Given the description of an element on the screen output the (x, y) to click on. 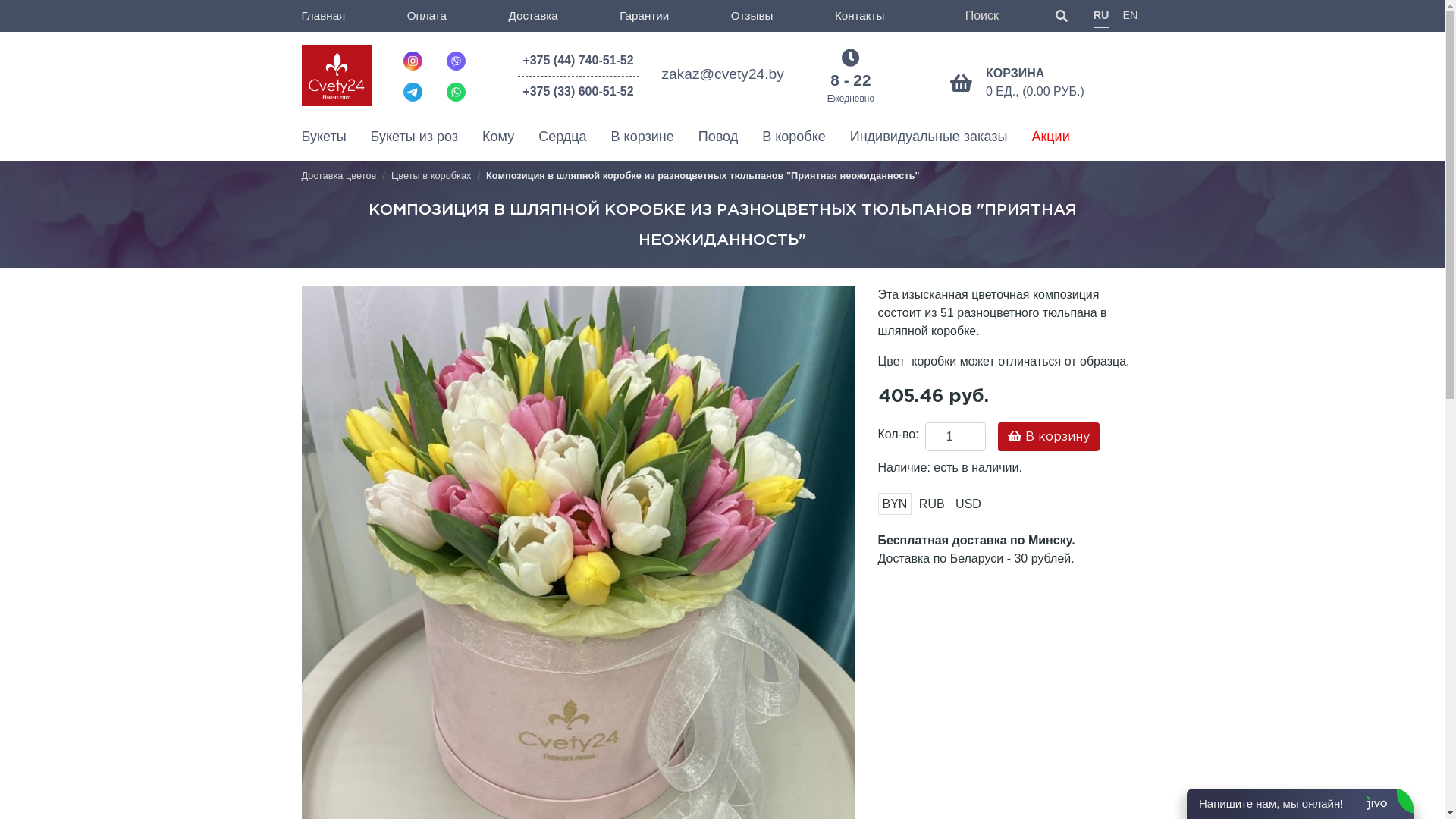
RUB Element type: text (931, 503)
RU Element type: text (1101, 15)
EN Element type: text (1129, 15)
zakaz@cvety24.by Element type: text (722, 73)
BYN Element type: text (895, 503)
USD Element type: text (968, 503)
+375 (33) 600-51-52 Element type: text (577, 91)
+375 (44) 740-51-52 Element type: text (577, 63)
